Given the description of an element on the screen output the (x, y) to click on. 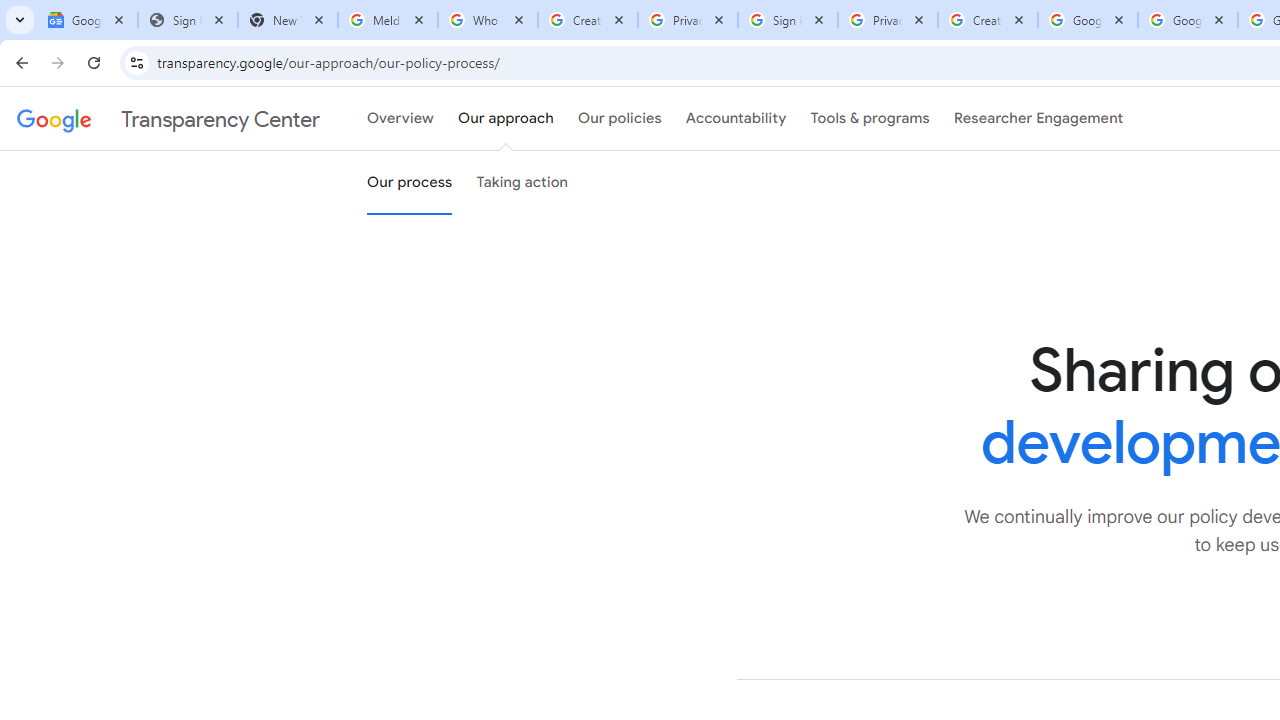
Our process (409, 183)
Transparency Center (167, 119)
Taking action (522, 183)
Create your Google Account (988, 20)
Our policies (619, 119)
Who is my administrator? - Google Account Help (487, 20)
Tools & programs (869, 119)
Accountability (735, 119)
